Given the description of an element on the screen output the (x, y) to click on. 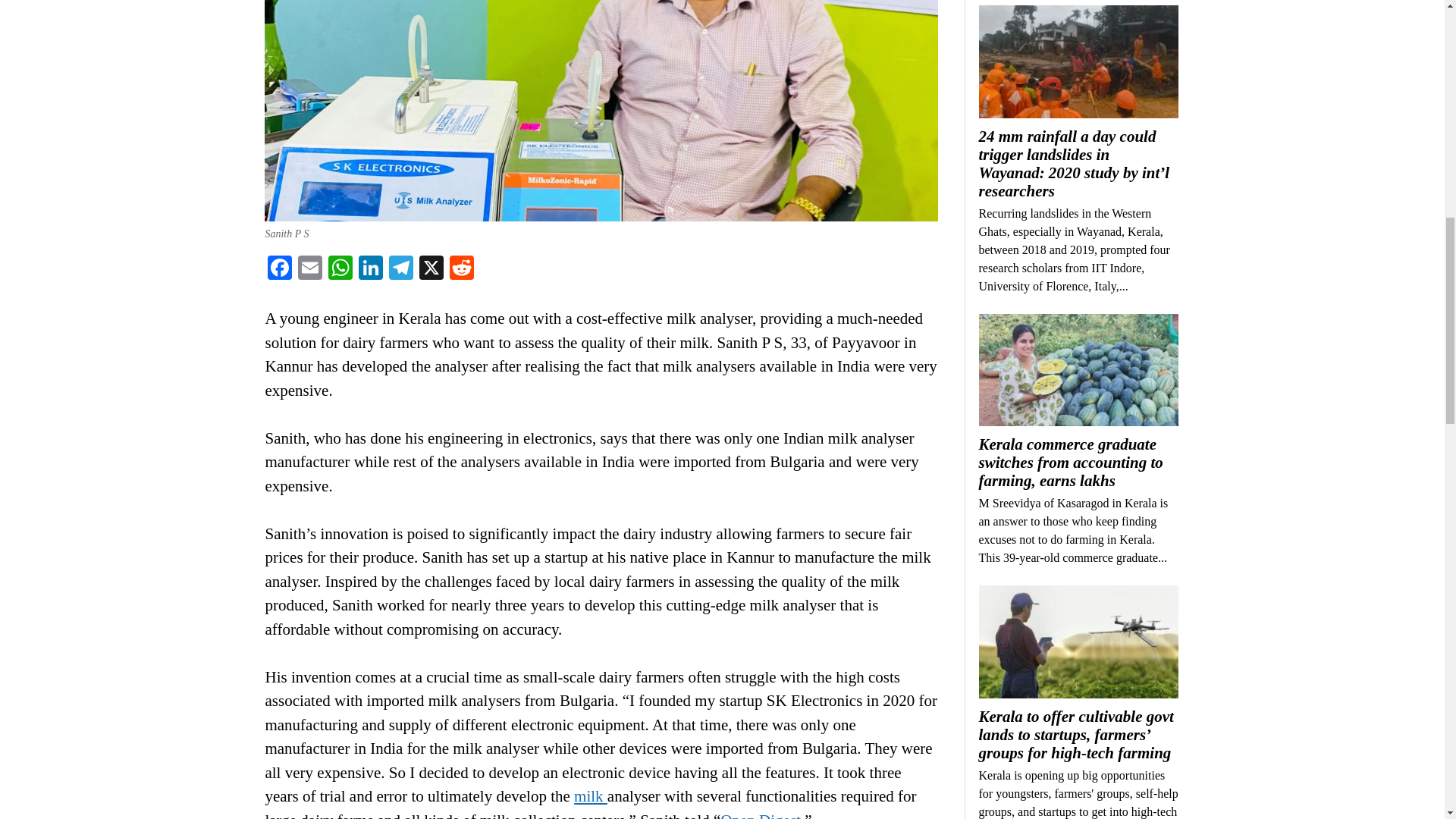
WhatsApp (339, 269)
Facebook (279, 269)
Email (309, 269)
WhatsApp (339, 269)
Email (309, 269)
Reddit (461, 269)
Facebook (279, 269)
LinkedIn (370, 269)
Telegram (400, 269)
milk (590, 796)
